Given the description of an element on the screen output the (x, y) to click on. 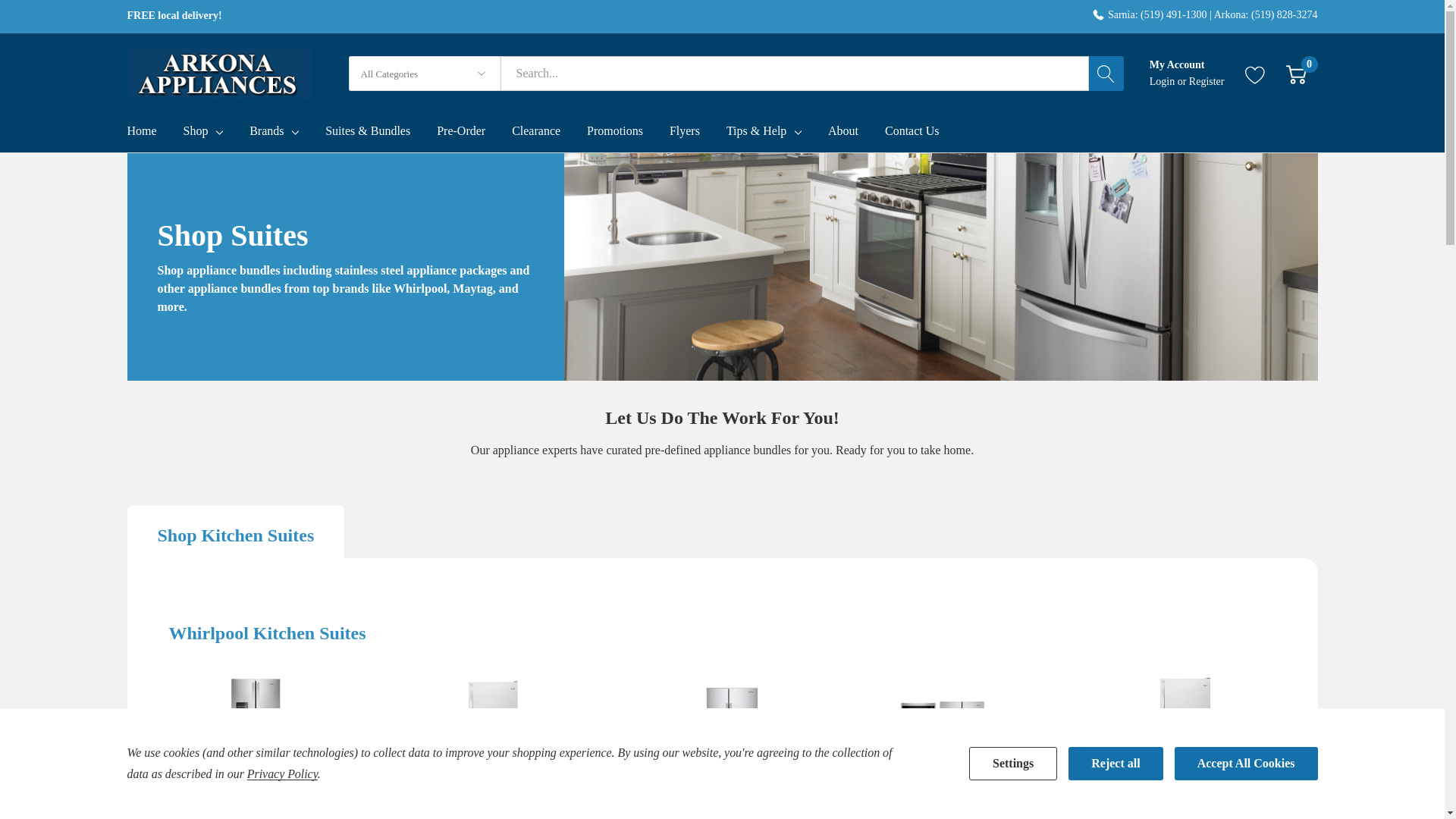
0 (1295, 74)
Arkona Appliances (219, 73)
Register (1206, 81)
Home (155, 132)
Shop (195, 131)
Login (1163, 81)
